Given the description of an element on the screen output the (x, y) to click on. 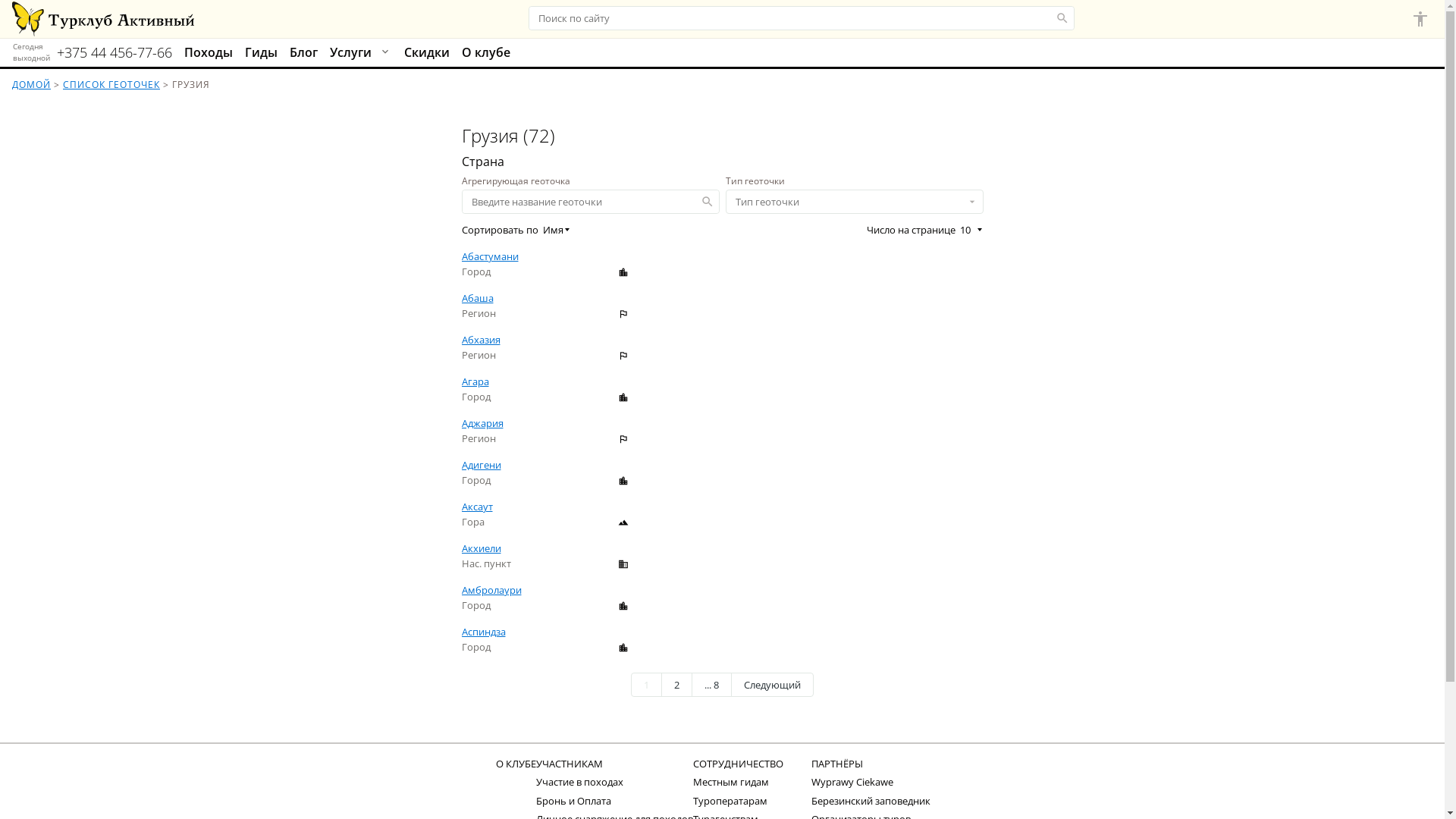
Wyprawy Ciekawe Element type: text (852, 781)
+375 44 456-77-66 Element type: text (114, 52)
... 8 Element type: text (711, 684)
1 Element type: text (646, 684)
2 Element type: text (676, 684)
